Given the description of an element on the screen output the (x, y) to click on. 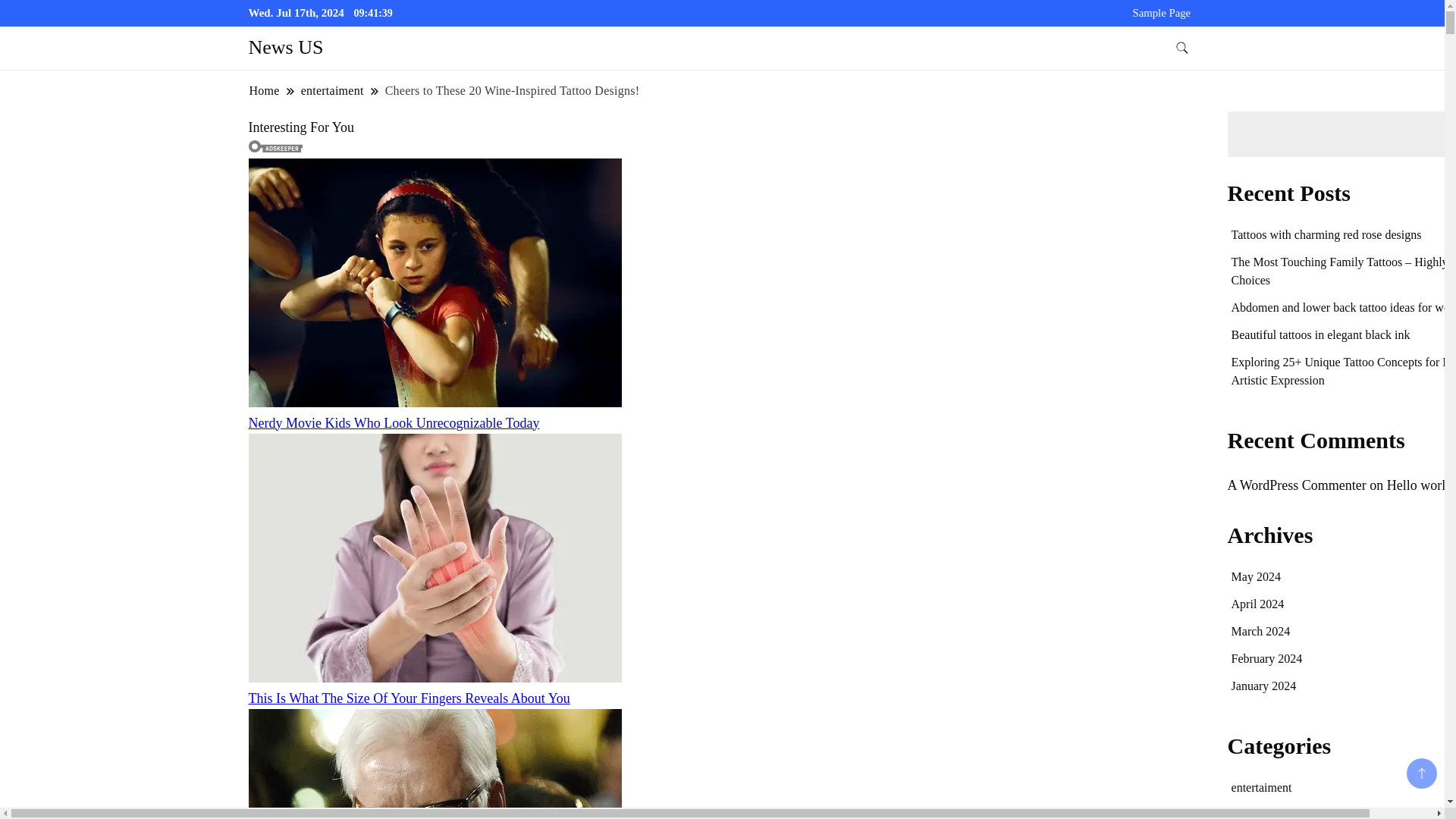
Sample Page (1161, 12)
News US (285, 47)
Cheers to These 20 Wine-Inspired Tattoo Designs! (512, 90)
entertaiment (332, 90)
Home (264, 90)
